Given the description of an element on the screen output the (x, y) to click on. 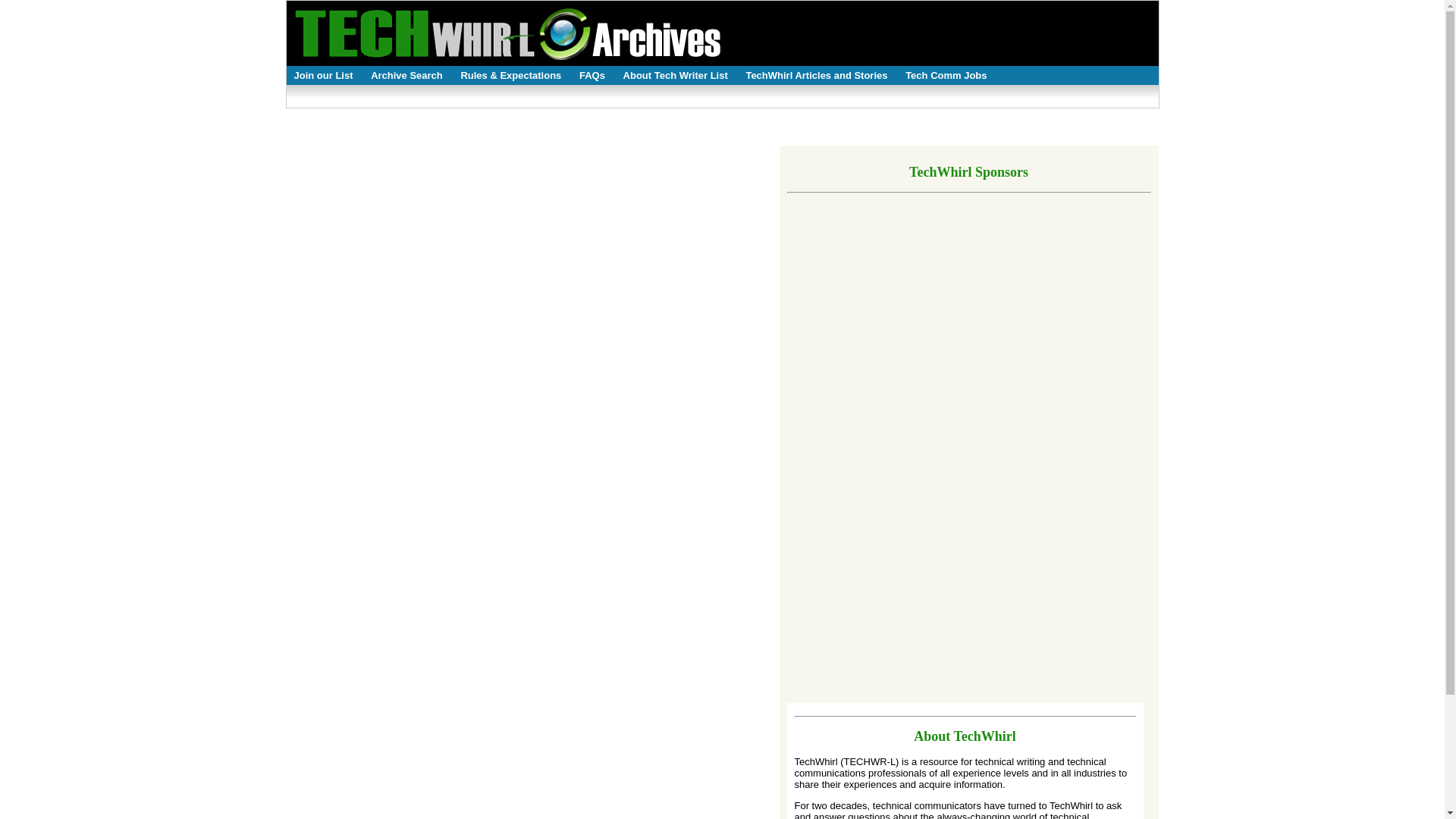
3rd party ad content (839, 410)
Join our List (323, 78)
About Tech Writer List (675, 78)
Tech Comm Jobs (946, 78)
FAQs (592, 78)
TechWhirl Articles and Stories (816, 78)
3rd party ad content (1054, 410)
Archive Search (405, 78)
